Given the description of an element on the screen output the (x, y) to click on. 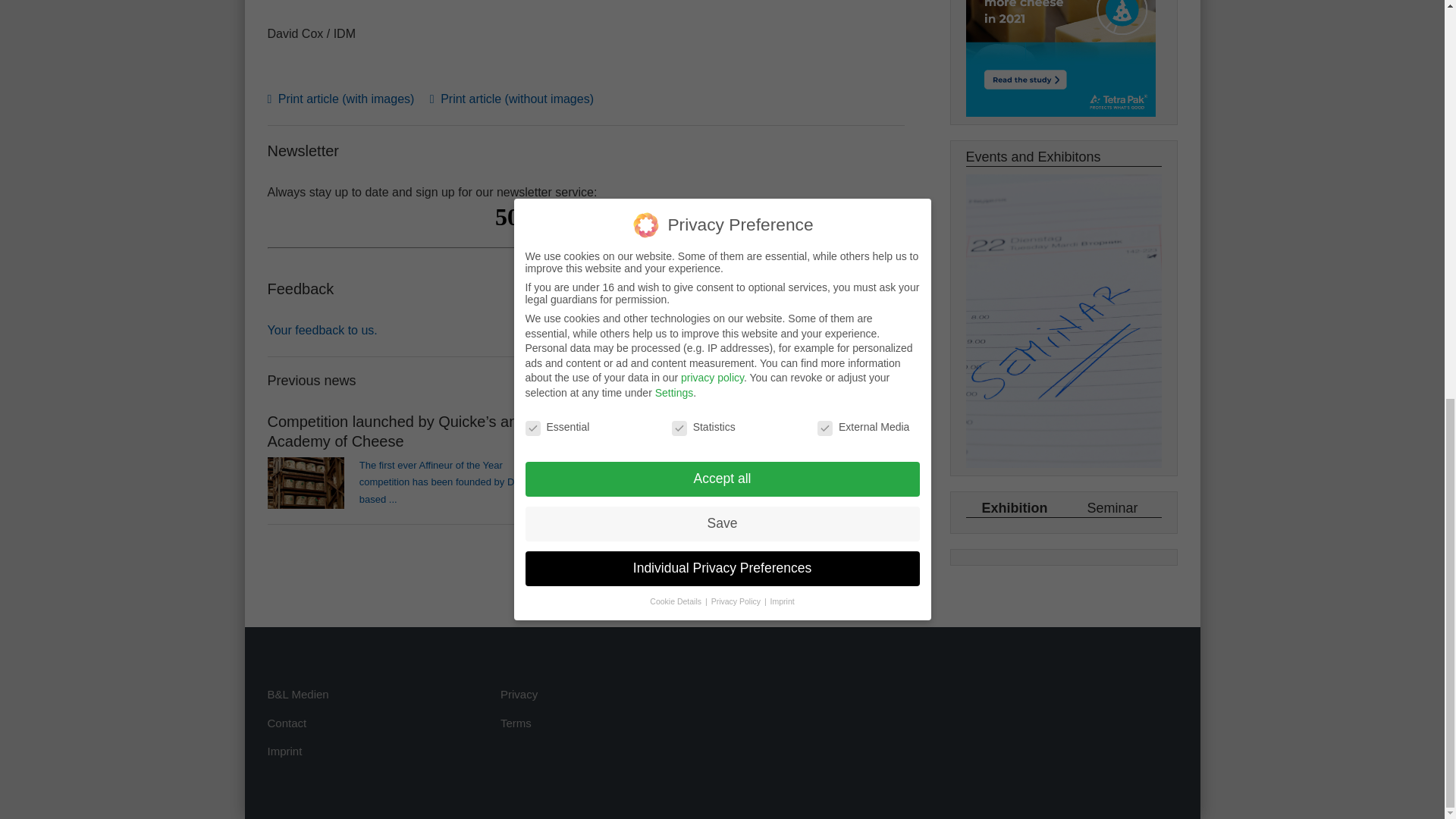
Contact (285, 722)
Imprint (283, 750)
Terms (515, 722)
Privacy (518, 694)
Your feedback to us. (321, 329)
